Given the description of an element on the screen output the (x, y) to click on. 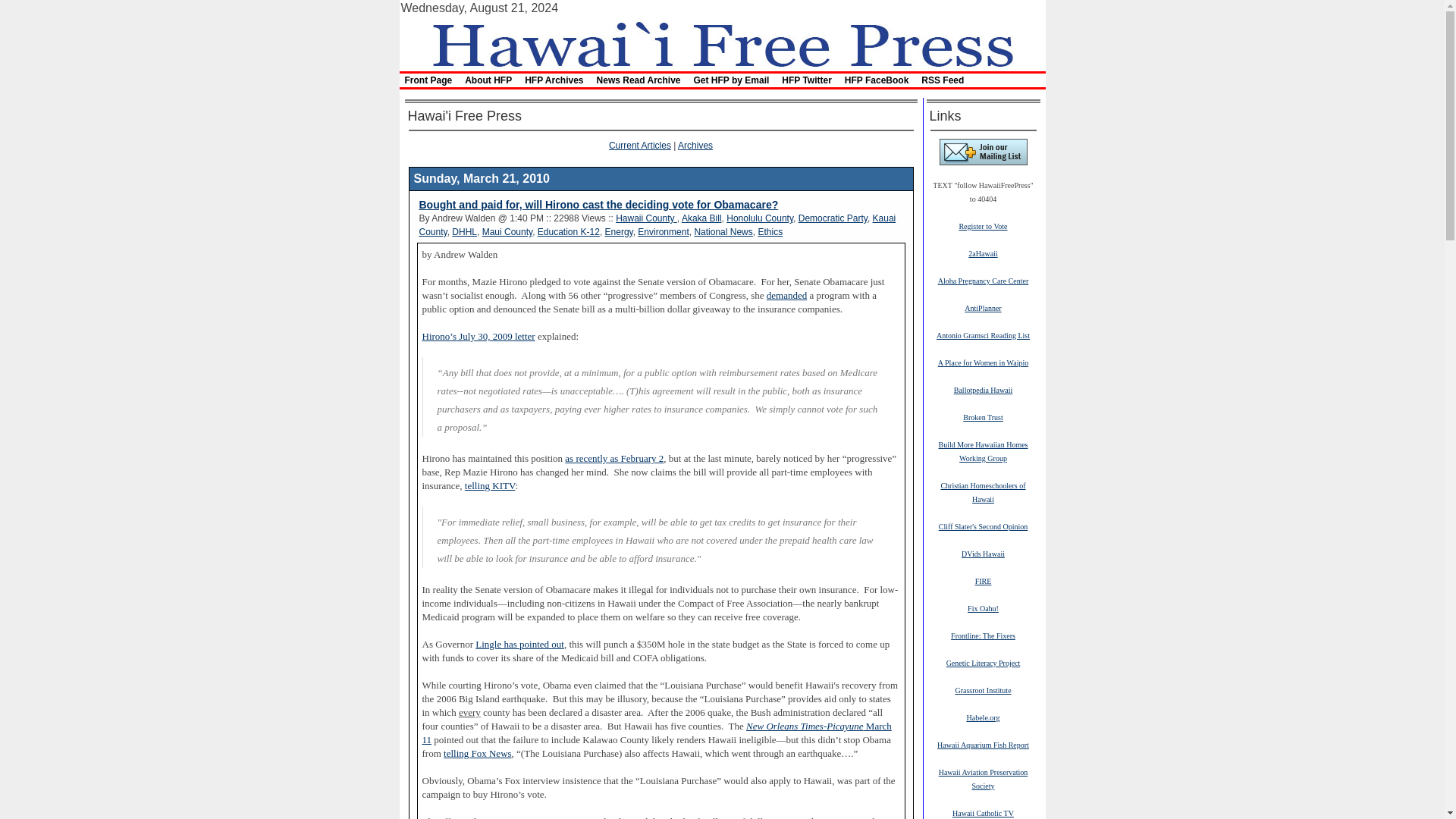
Education K-12 (568, 231)
National News (723, 231)
Archives (695, 145)
Lingle has pointed out (520, 644)
demanded (786, 295)
telling KITV (489, 485)
Democratic Party (832, 217)
Environment (662, 231)
as recently as February 2 (613, 458)
Current Articles (639, 145)
